Given the description of an element on the screen output the (x, y) to click on. 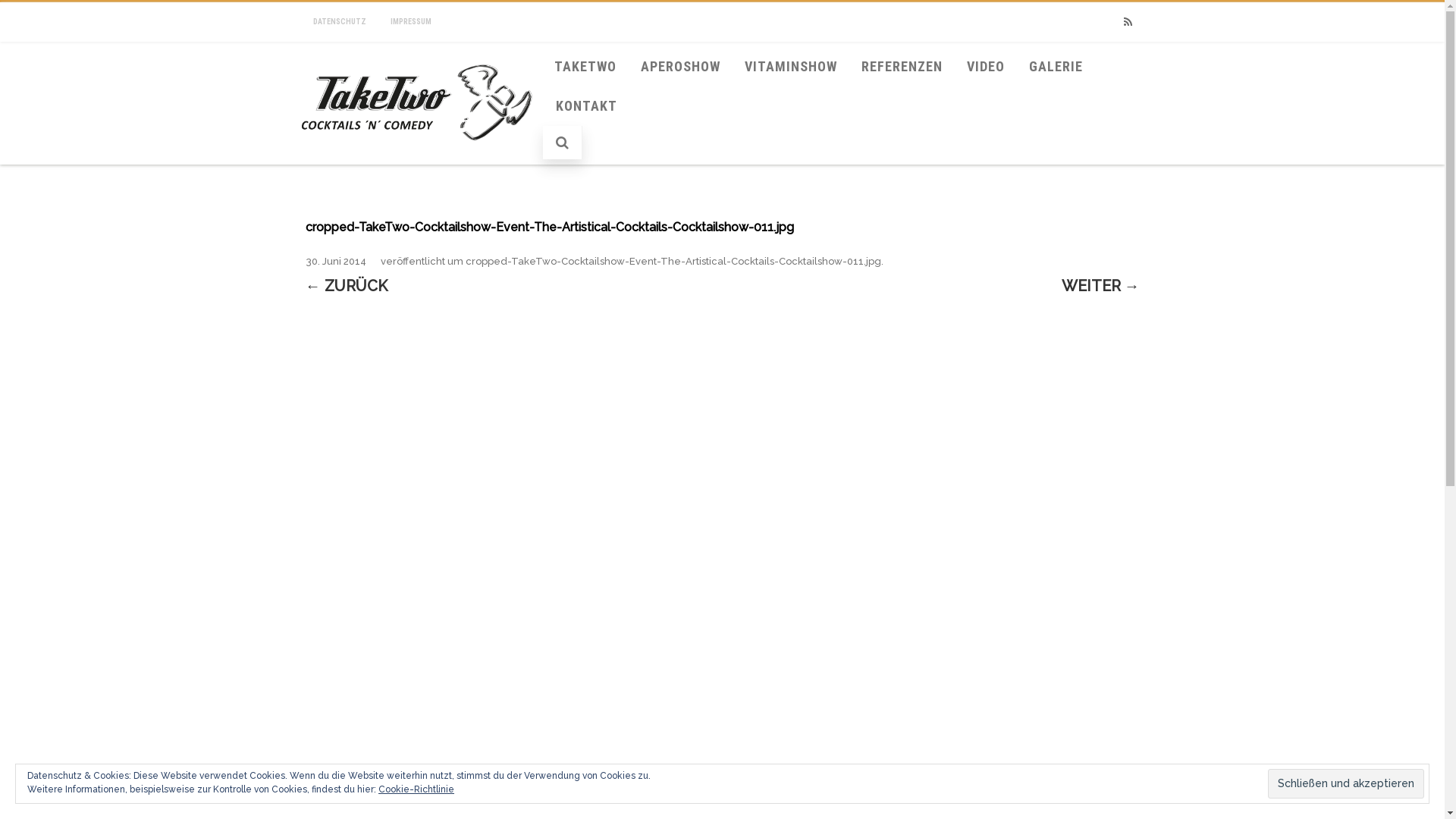
DATENSCHUTZ Element type: text (339, 21)
GALERIE Element type: text (1055, 66)
KONTAKT Element type: text (586, 105)
Cookie-Richtlinie Element type: text (416, 789)
VITAMINSHOW Element type: text (790, 66)
TAKETWO Element type: text (584, 66)
VIDEO Element type: text (985, 66)
IMPRESSUM Element type: text (410, 21)
RSS Element type: hover (1128, 22)
REFERENZEN Element type: text (901, 66)
APEROSHOW Element type: text (680, 66)
